Given the description of an element on the screen output the (x, y) to click on. 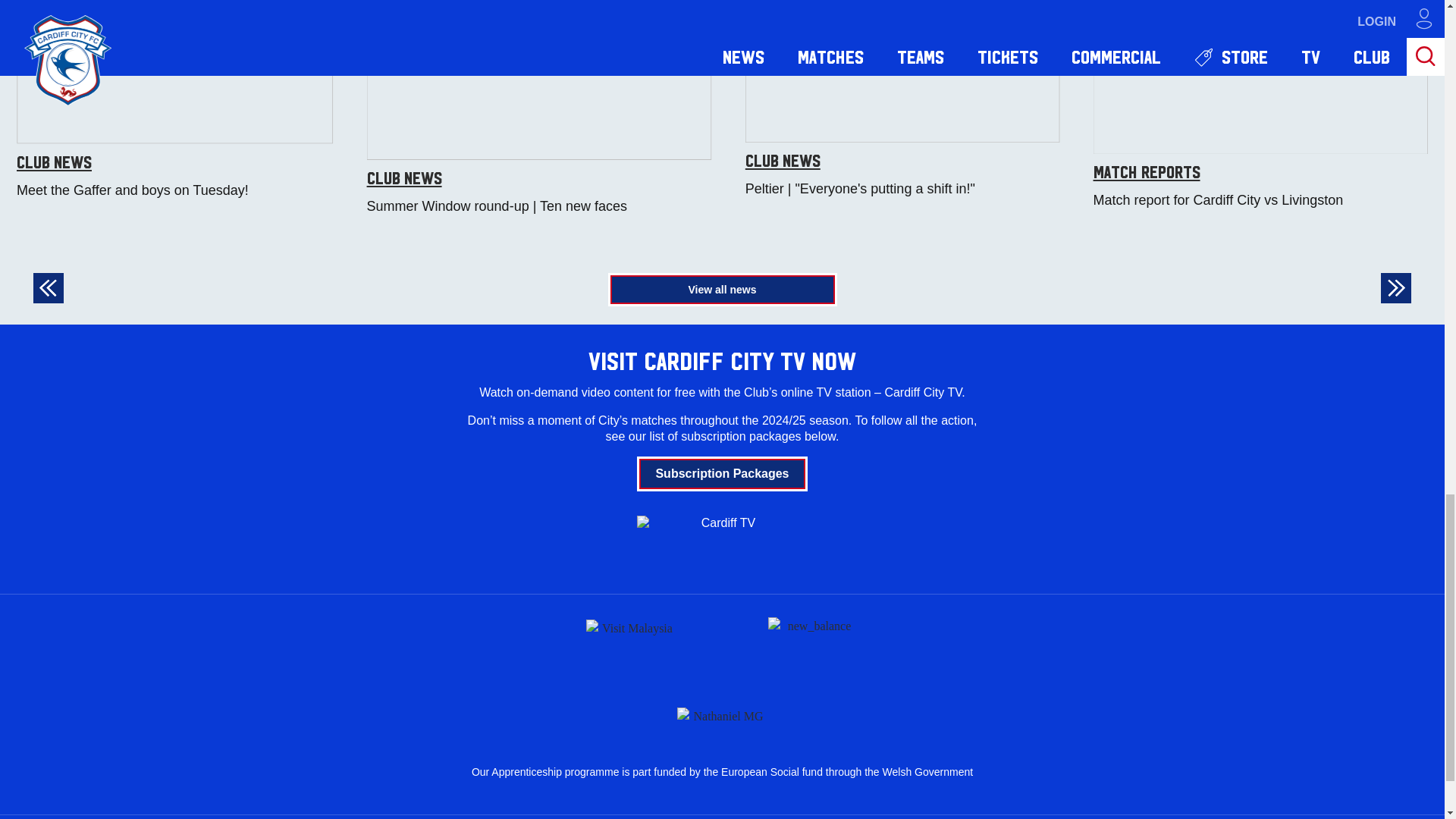
New Balance (813, 645)
Nathaniel Cars (722, 713)
Visit Malaysia (631, 645)
